Given the description of an element on the screen output the (x, y) to click on. 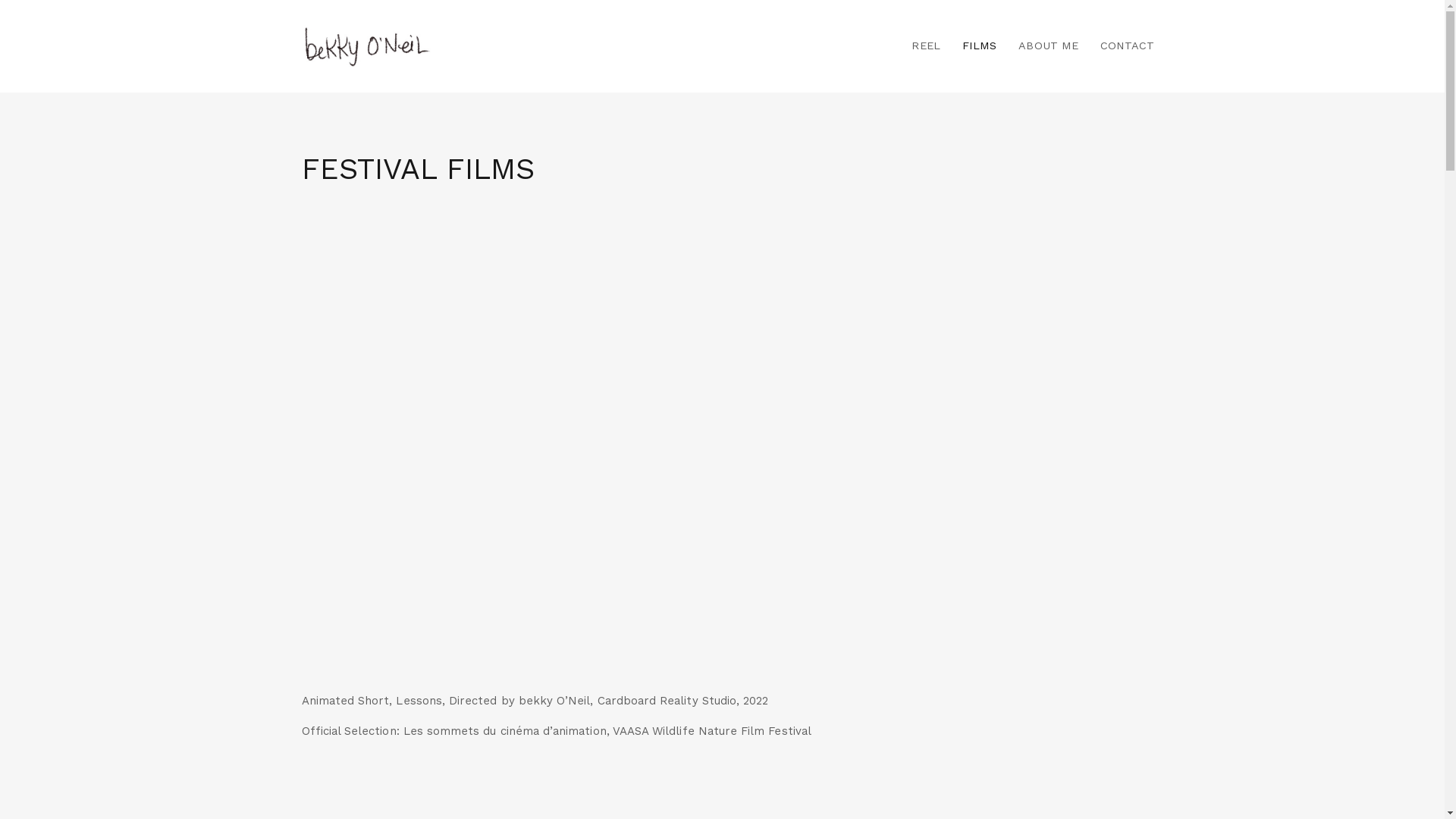
REEL Element type: text (925, 45)
ABOUT ME Element type: text (1048, 45)
Lessons Element type: hover (722, 448)
CONTACT Element type: text (1121, 45)
FILMS Element type: text (978, 45)
